Given the description of an element on the screen output the (x, y) to click on. 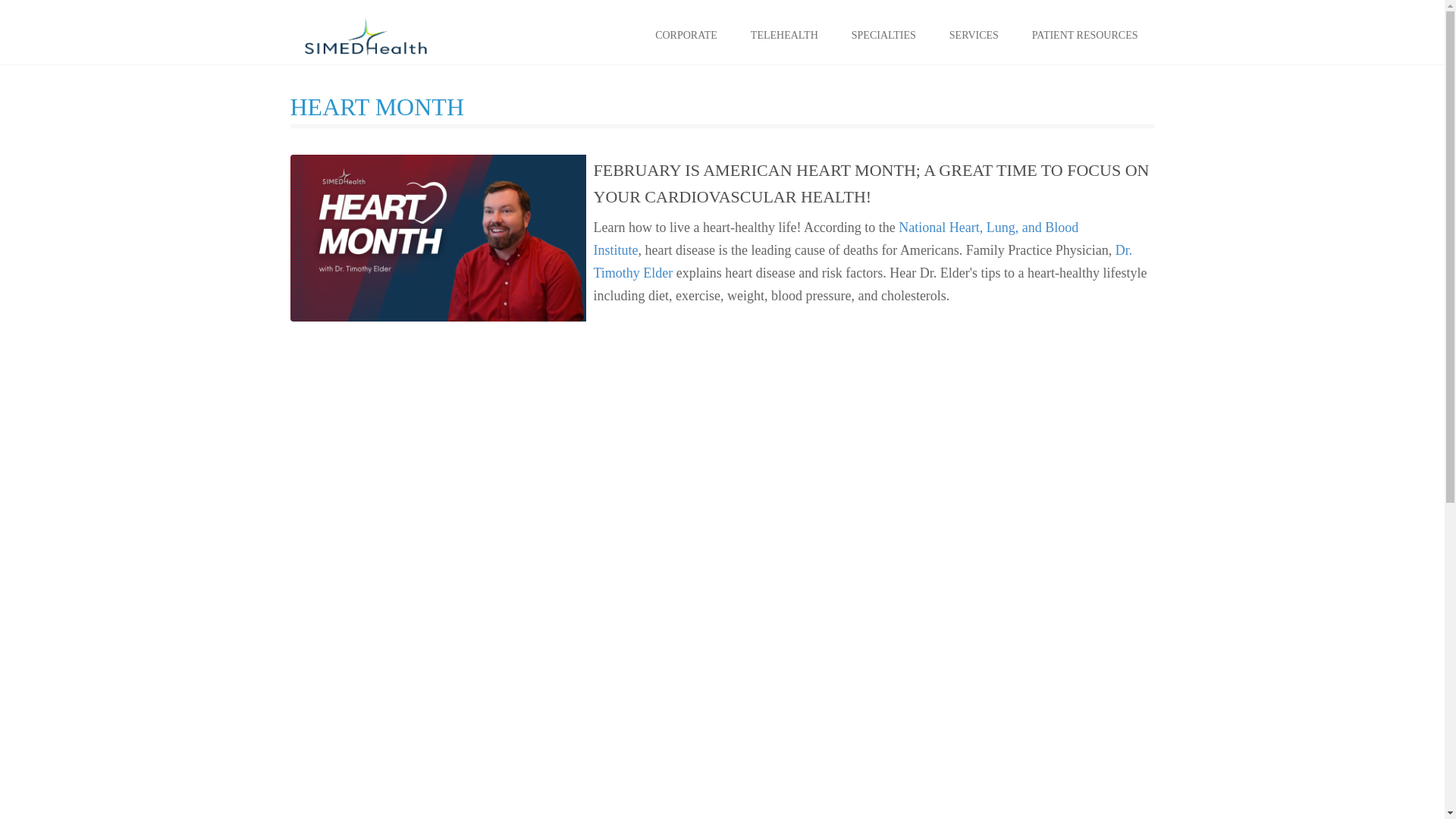
SPECIALTIES (883, 34)
CORPORATE (686, 34)
Home (365, 36)
Get information on our telehealth service (783, 34)
Dr. Timothy Elder (862, 261)
TELEHEALTH (783, 34)
National Heart, Lung, and Blood Institute (835, 238)
SERVICES (973, 34)
PATIENT RESOURCES (1084, 34)
Learn about SIMEDHealth, Inc (686, 34)
